Given the description of an element on the screen output the (x, y) to click on. 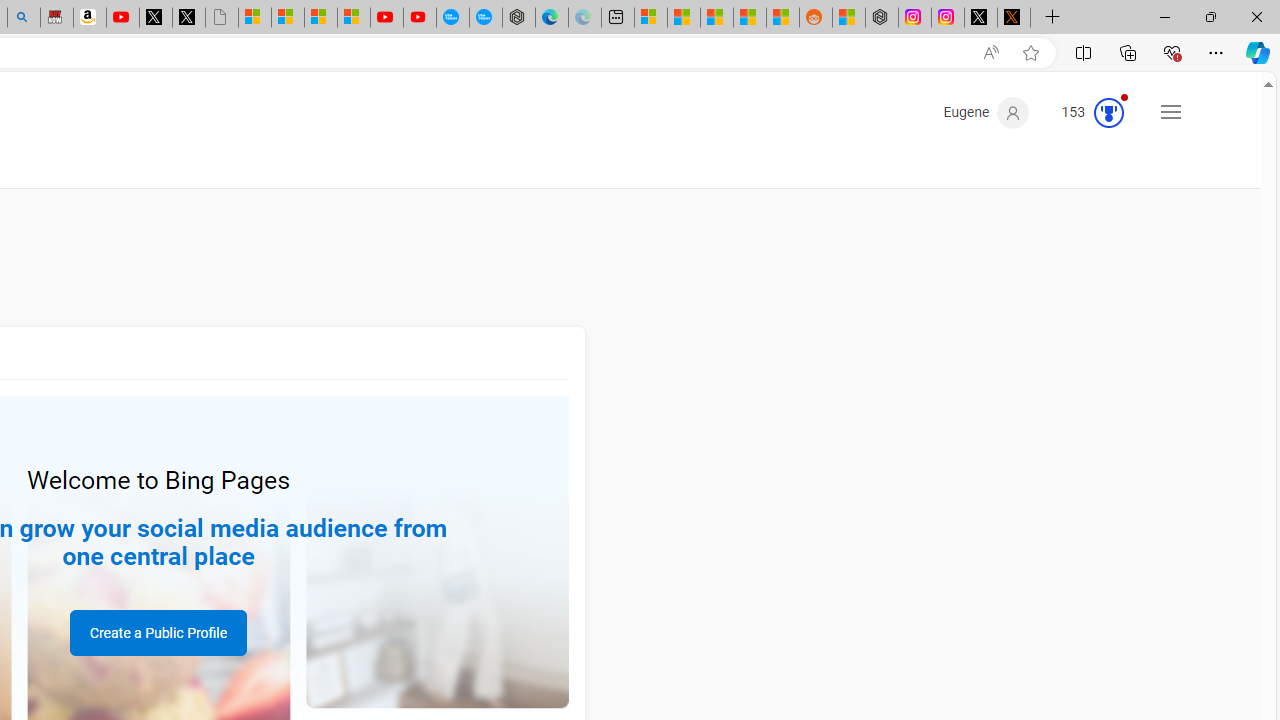
Microsoft account | Microsoft Account Privacy Settings (650, 17)
Shanghai, China weather forecast | Microsoft Weather (684, 17)
Create a Public Profile (158, 632)
The most popular Google 'how to' searches (485, 17)
Day 1: Arriving in Yemen (surreal to be here) - YouTube (123, 17)
Class: medal-circled (1109, 112)
Gloom - YouTube (387, 17)
